Given the description of an element on the screen output the (x, y) to click on. 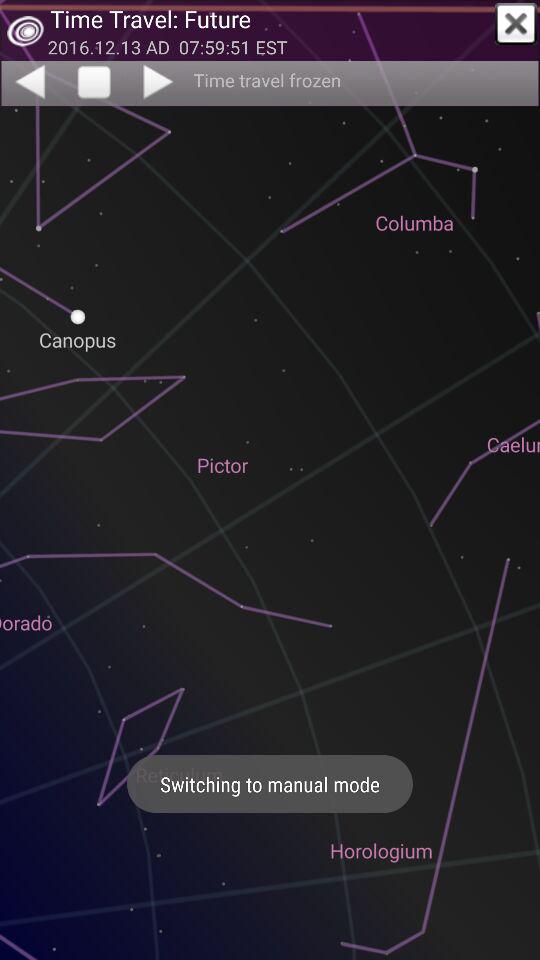
go back (29, 81)
